Given the description of an element on the screen output the (x, y) to click on. 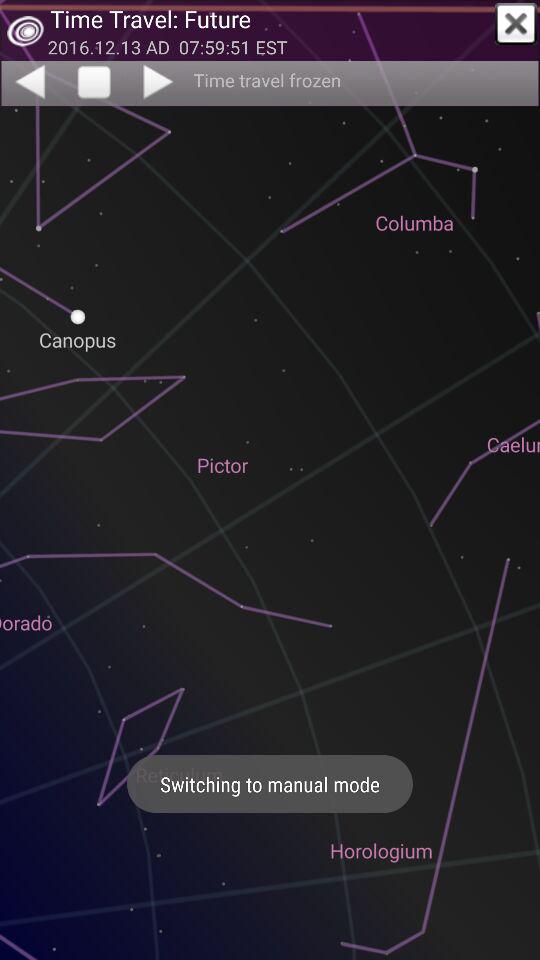
go back (29, 81)
